Given the description of an element on the screen output the (x, y) to click on. 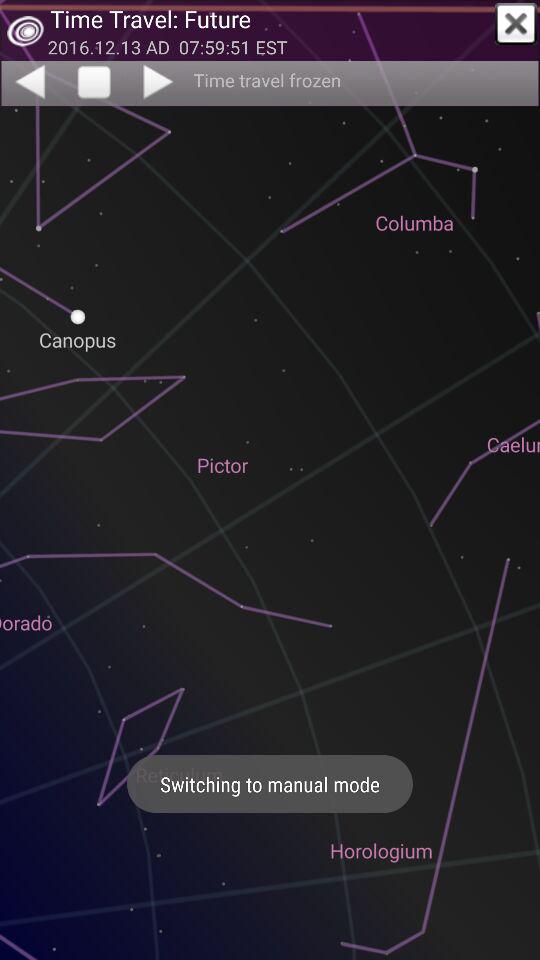
go back (29, 81)
